Given the description of an element on the screen output the (x, y) to click on. 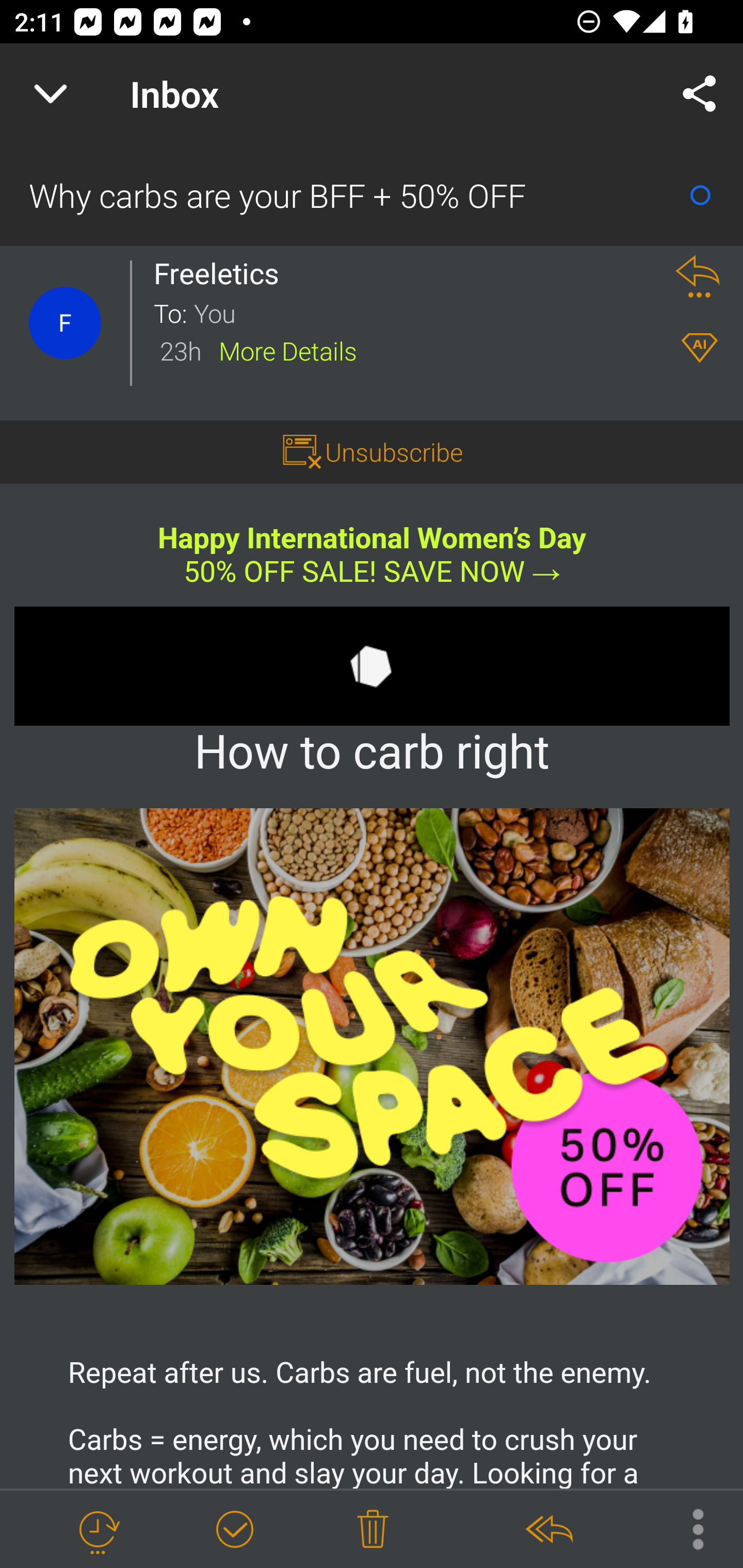
Navigate up (50, 93)
Share (699, 93)
Mark as Read (699, 194)
Freeletics (221, 273)
Contact Details (64, 322)
You (422, 311)
More Details (287, 349)
Unsubscribe (393, 451)
50% OFF SALE! SAVE NOW → (371, 571)
original (372, 1045)
More Options (687, 1528)
Snooze (97, 1529)
Mark as Done (234, 1529)
Delete (372, 1529)
Reply All (548, 1529)
